Given the description of an element on the screen output the (x, y) to click on. 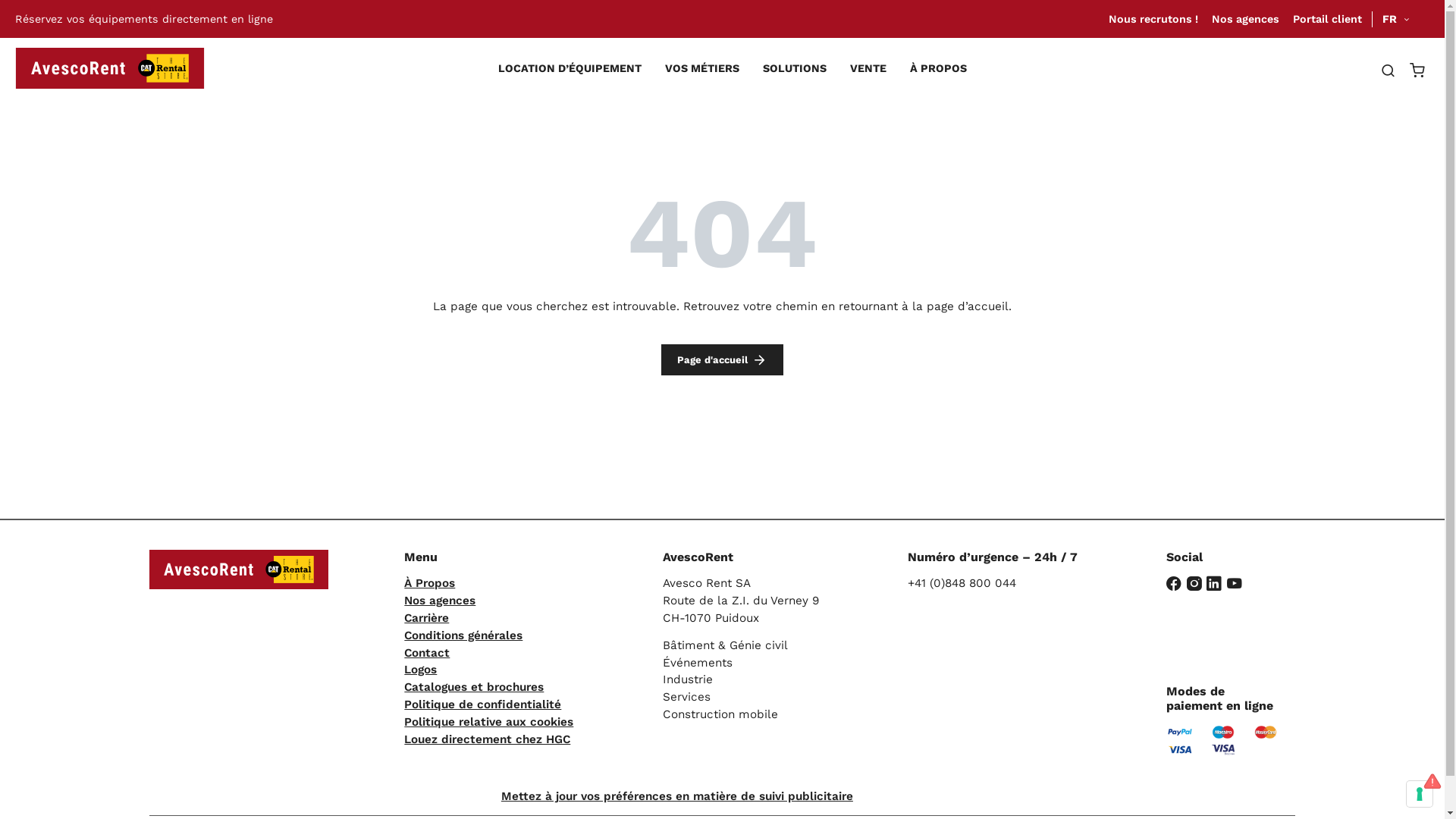
Logos Element type: text (420, 669)
Page d'accueil Element type: text (722, 359)
Contact Element type: text (426, 652)
Politique relative aux cookies Element type: text (488, 721)
Nous recrutons ! Element type: text (1153, 18)
SOLUTIONS Element type: text (794, 68)
Portail client Element type: text (1326, 18)
Catalogues et brochures Element type: text (473, 686)
Nos agences Element type: text (439, 600)
VENTE Element type: text (868, 68)
Louez directement chez HGC Element type: text (487, 739)
Nos agences Element type: text (1245, 18)
